Given the description of an element on the screen output the (x, y) to click on. 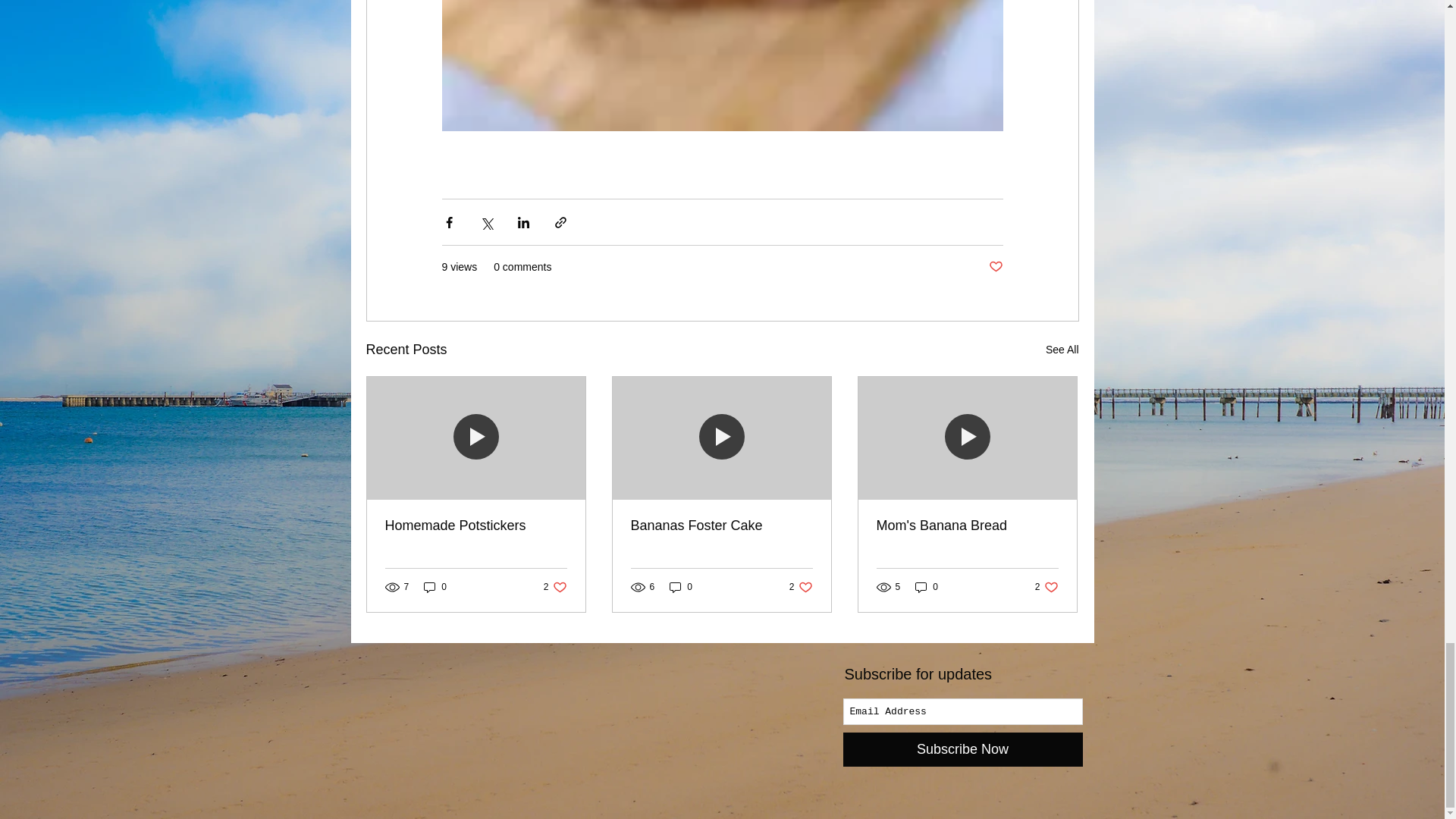
Mom's Banana Bread (967, 525)
Bananas Foster Cake (721, 525)
0 (1046, 586)
0 (926, 586)
0 (681, 586)
Homemade Potstickers (435, 586)
Post not marked as liked (476, 525)
See All (995, 267)
